Given the description of an element on the screen output the (x, y) to click on. 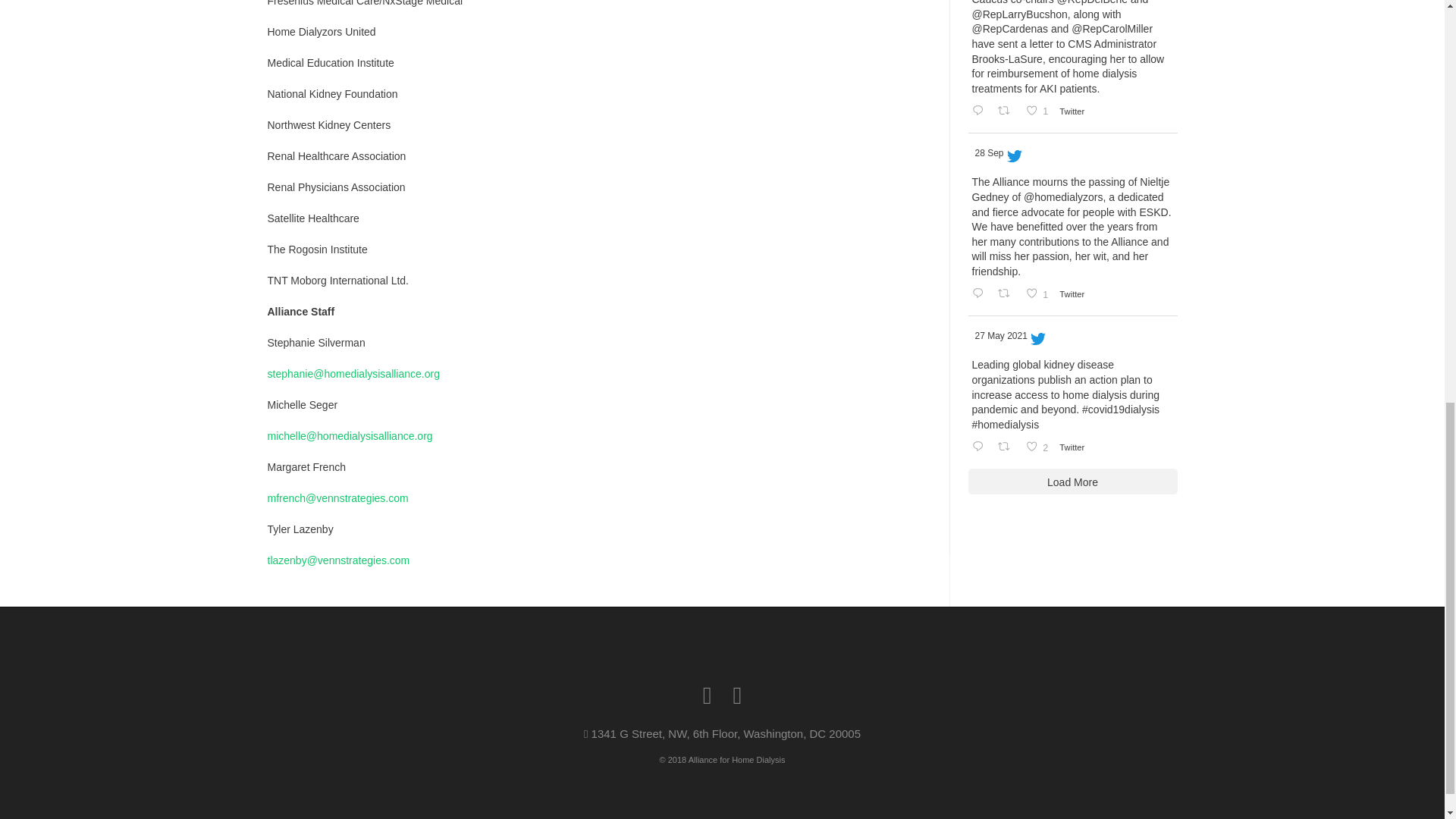
Retweet on Twitter 1714994555034964052 (1008, 111)
Reply on Twitter 1714994555034964052 (980, 111)
Follow Us on Twitter (1038, 111)
Send Us an Email (736, 695)
